Given the description of an element on the screen output the (x, y) to click on. 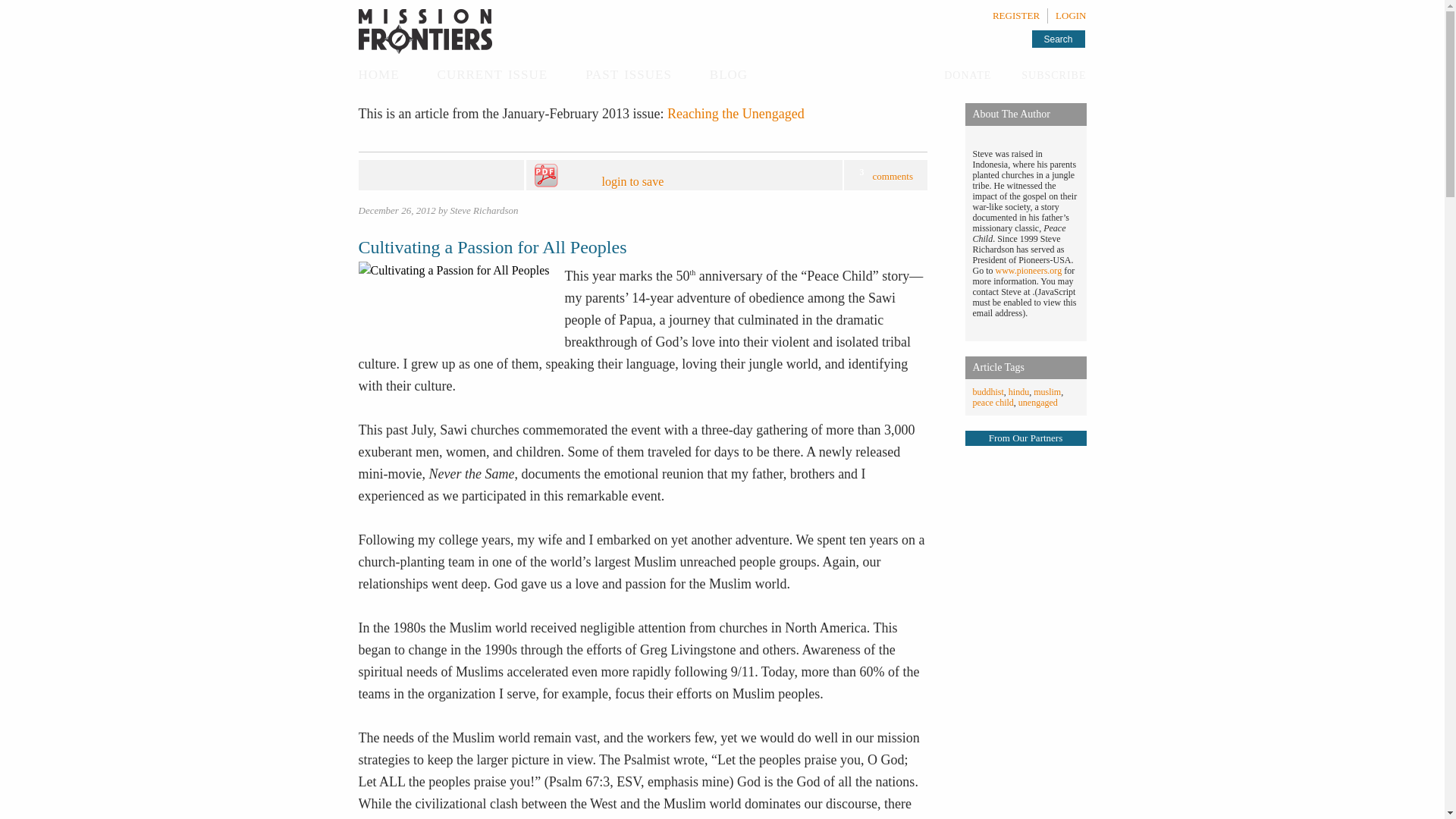
muslim (1047, 391)
login to save (666, 175)
Search (1057, 38)
subscribe (1054, 74)
peace child (992, 402)
buddhist (987, 391)
donate (967, 74)
home (378, 72)
Reaching the Unengaged (735, 113)
REGISTER (1015, 15)
